Given the description of an element on the screen output the (x, y) to click on. 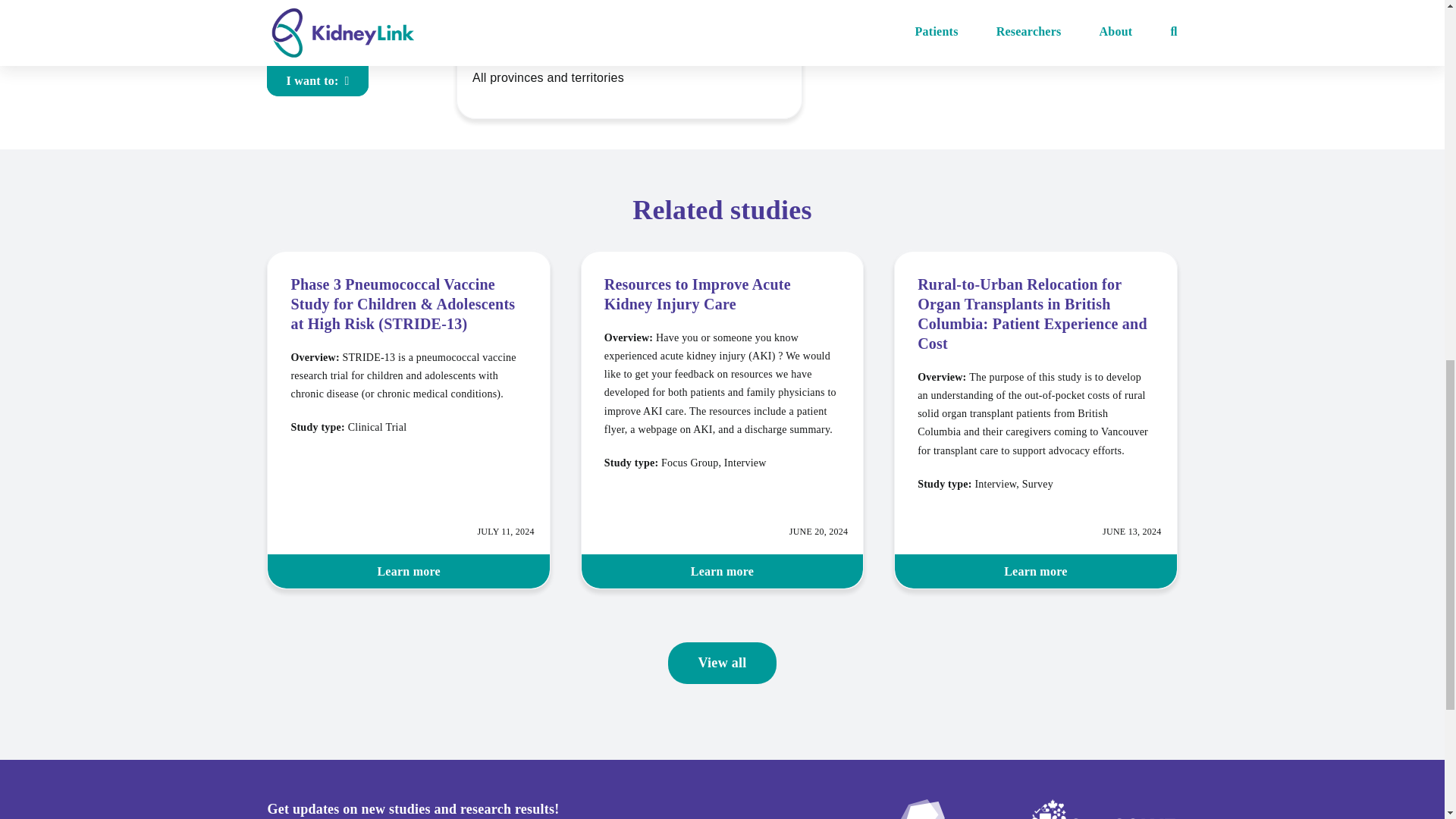
Learn more (407, 571)
View all (721, 662)
Learn more (1035, 571)
Learn more (721, 571)
